Given the description of an element on the screen output the (x, y) to click on. 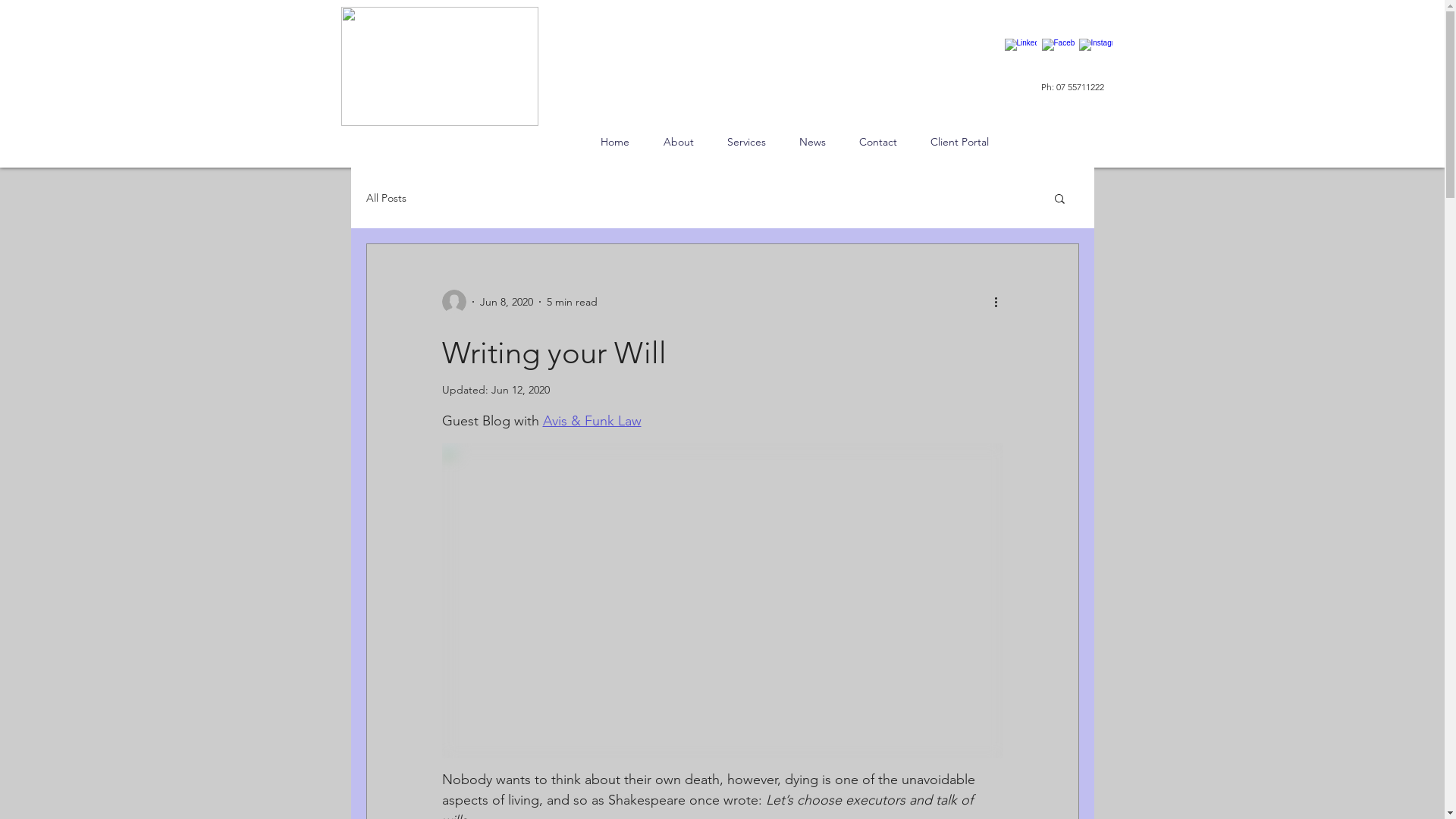
Avis & Funk Law Element type: text (591, 420)
About Element type: text (677, 141)
Client Portal Element type: text (958, 141)
Services Element type: text (745, 141)
Logo for email signature.png Element type: hover (439, 65)
Home Element type: text (614, 141)
News Element type: text (812, 141)
All Posts Element type: text (385, 197)
Contact Element type: text (877, 141)
Ph: 07 55711222 Element type: text (1071, 86)
